Given the description of an element on the screen output the (x, y) to click on. 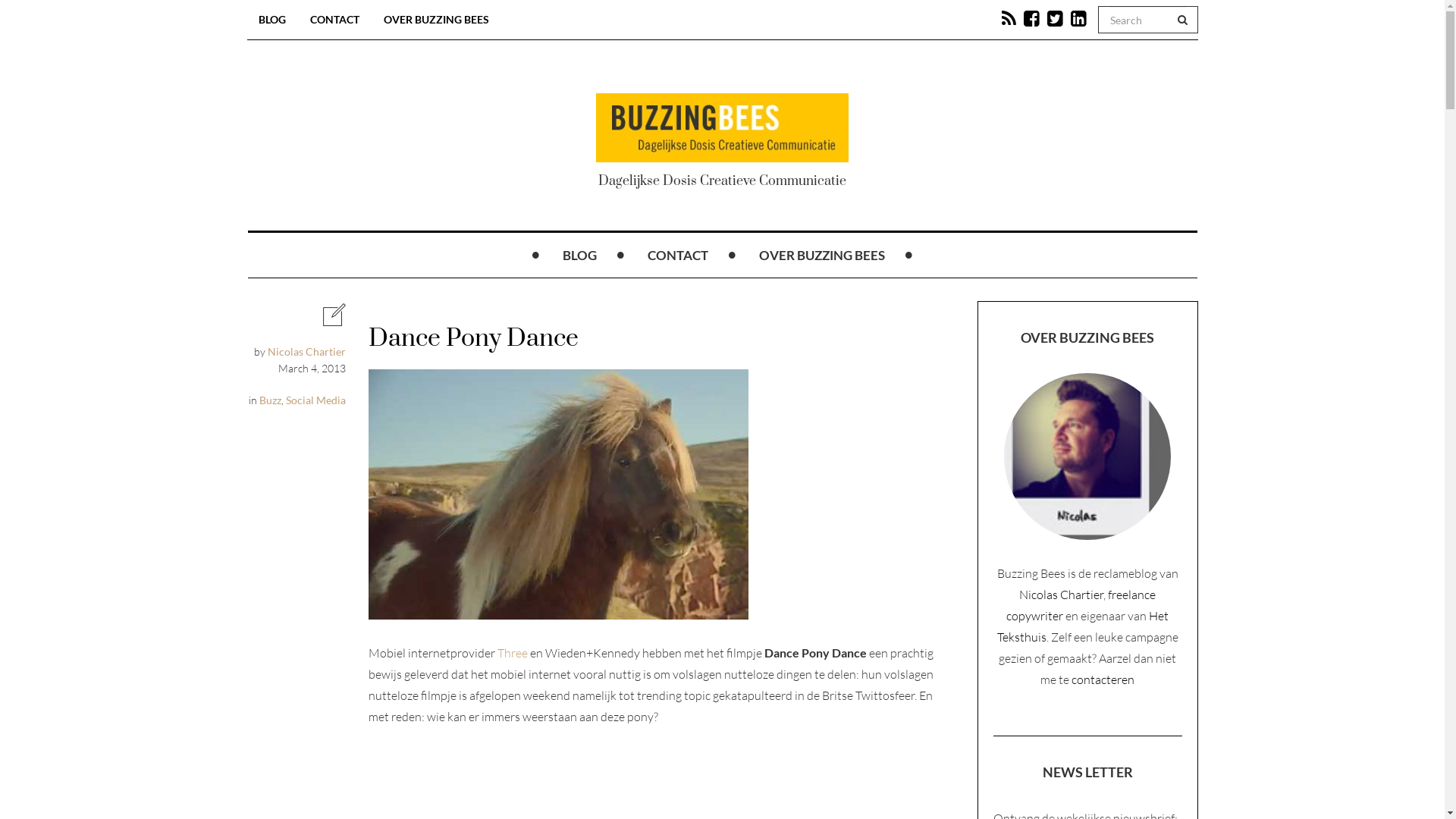
BLOG Element type: text (579, 255)
Social Media Element type: text (315, 399)
OVER BUZZING BEES Element type: text (435, 19)
Buzz Element type: text (270, 399)
Three Element type: text (512, 652)
CONTACT Element type: text (334, 19)
Nicolas Chartier Element type: text (1061, 594)
contacteren Element type: text (1102, 679)
Buzzing Bees Element type: hover (722, 127)
freelance copywriter Element type: text (1080, 604)
Het Teksthuis Element type: text (1082, 626)
Dance Pony Dance Element type: hover (558, 494)
Dance Pony Dance Element type: text (473, 338)
CONTACT Element type: text (677, 255)
Nicolas Chartier Element type: text (306, 351)
BLOG Element type: text (272, 19)
OVER BUZZING BEES Element type: text (821, 255)
